Given the description of an element on the screen output the (x, y) to click on. 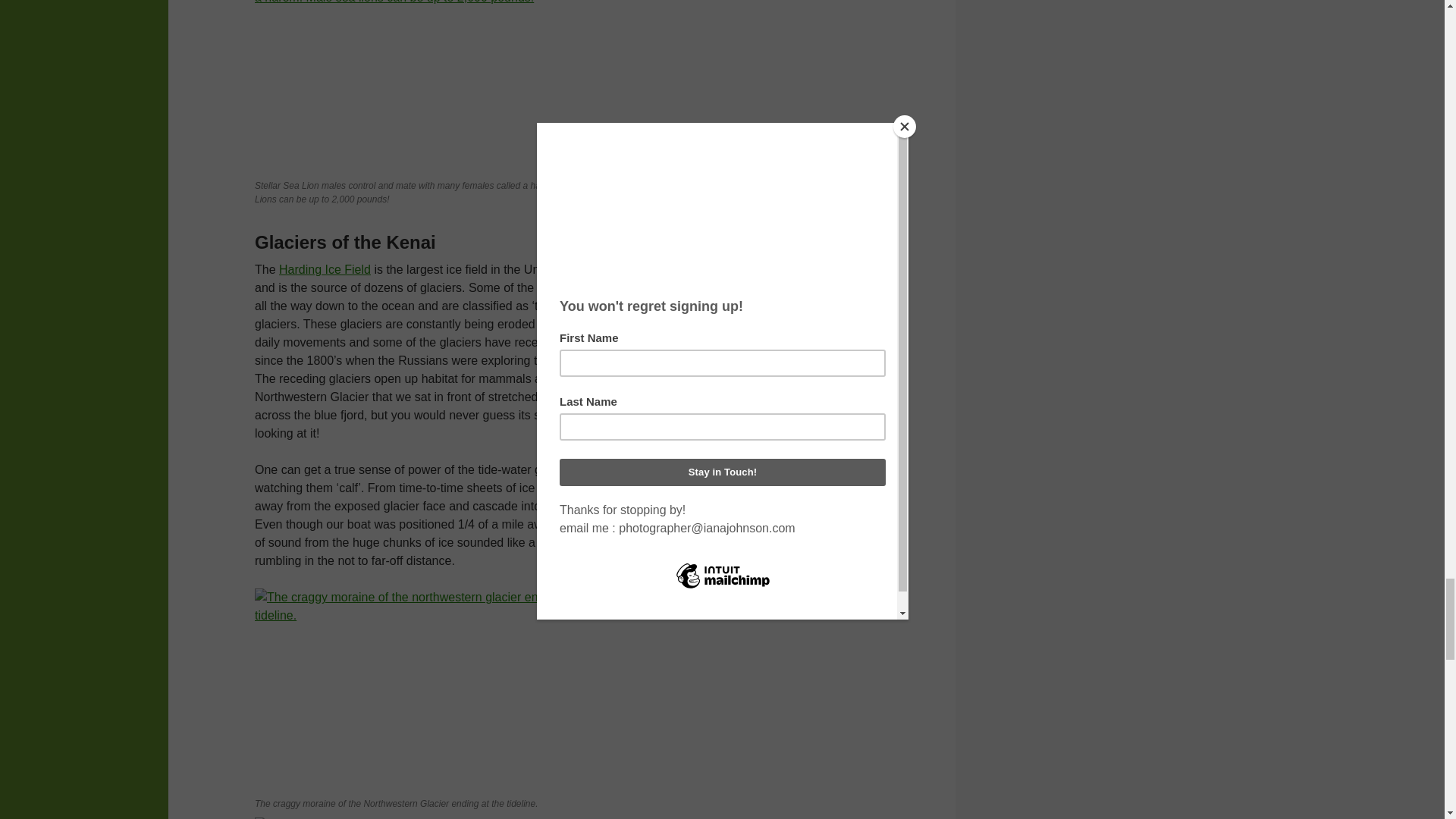
Harding Ice Field (325, 269)
